Given the description of an element on the screen output the (x, y) to click on. 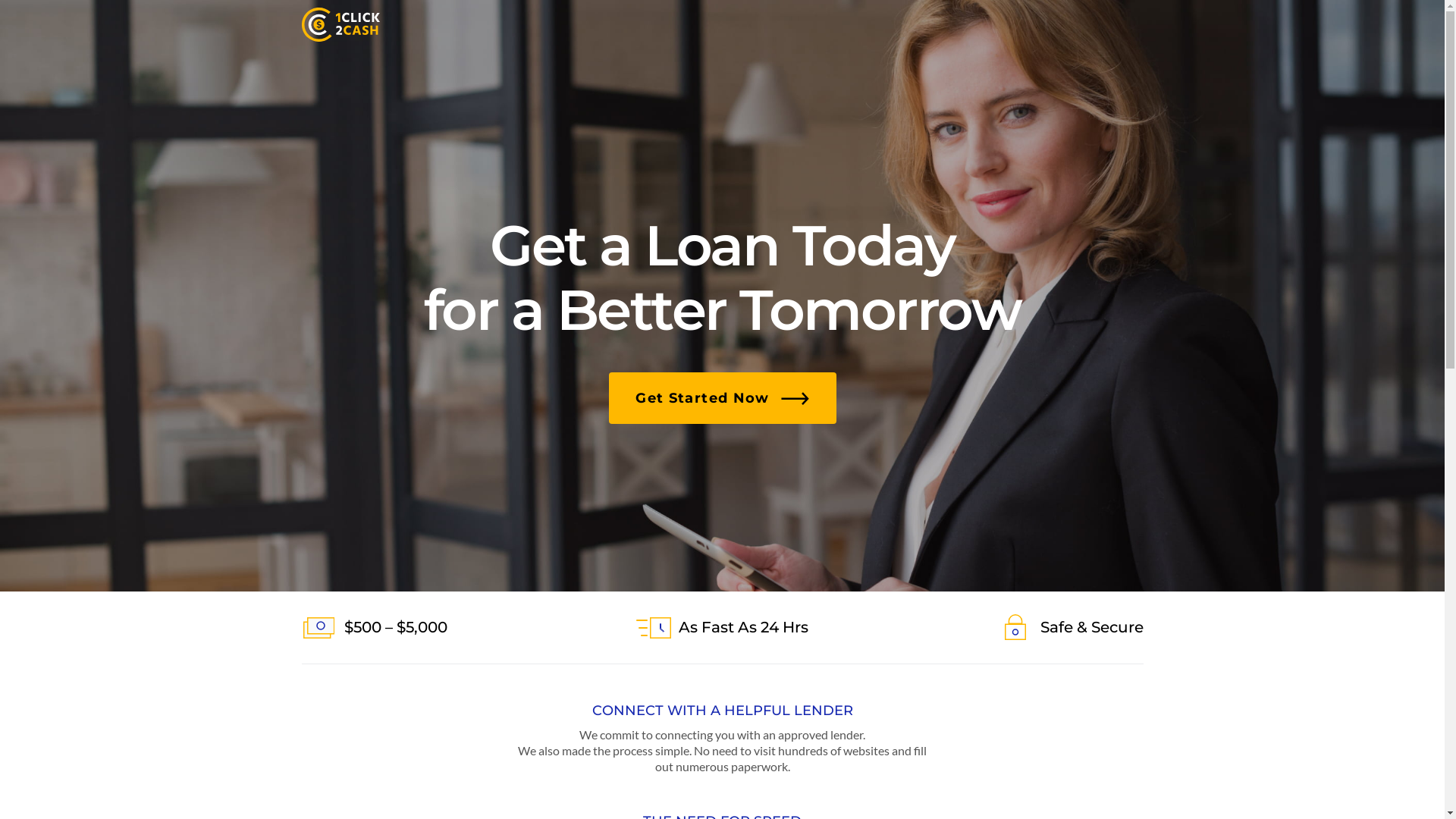
1Click2Cash.com Element type: text (340, 24)
Get Started Now Element type: text (721, 397)
